Given the description of an element on the screen output the (x, y) to click on. 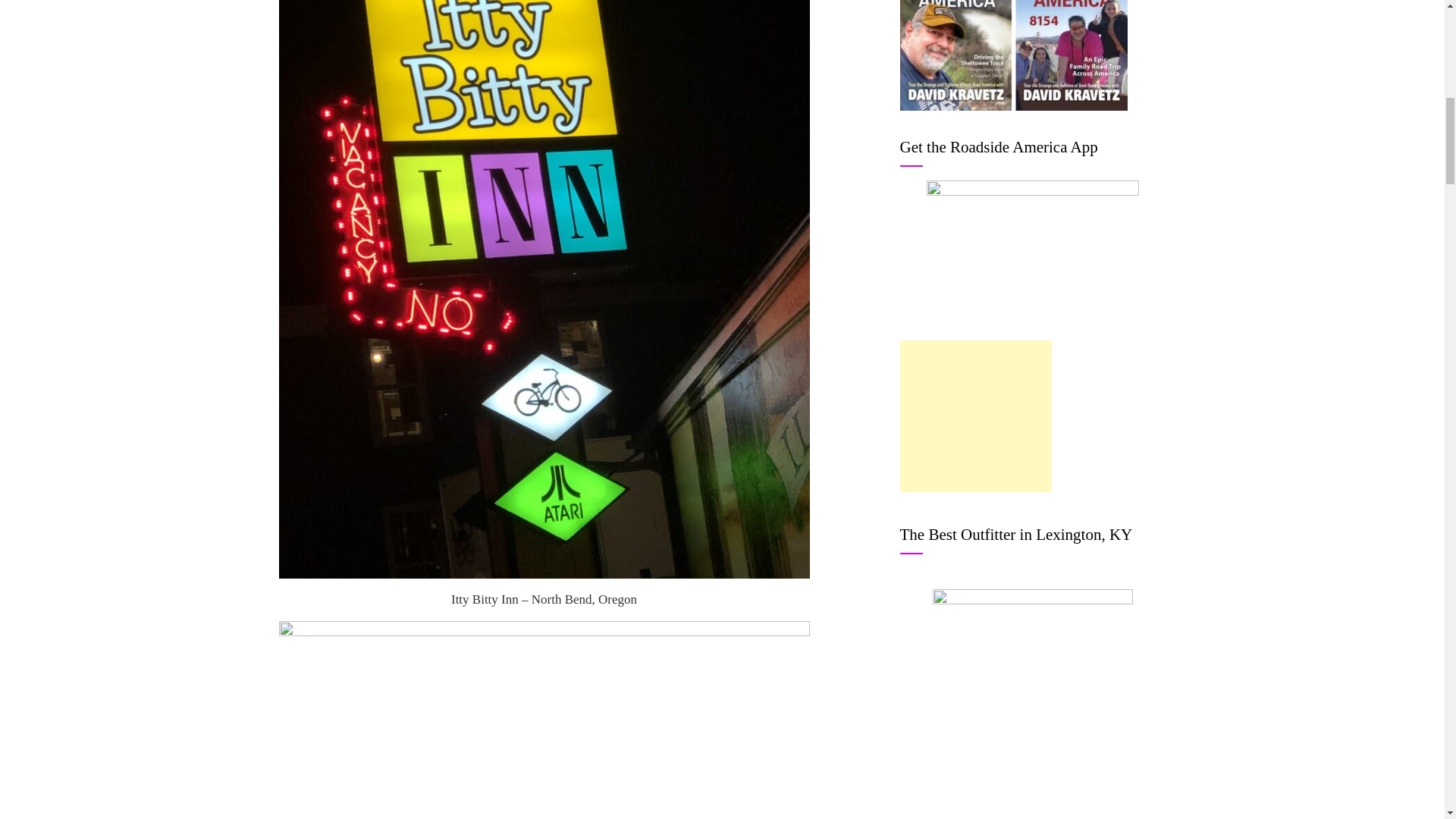
Get My Newest Book (1012, 55)
